Given the description of an element on the screen output the (x, y) to click on. 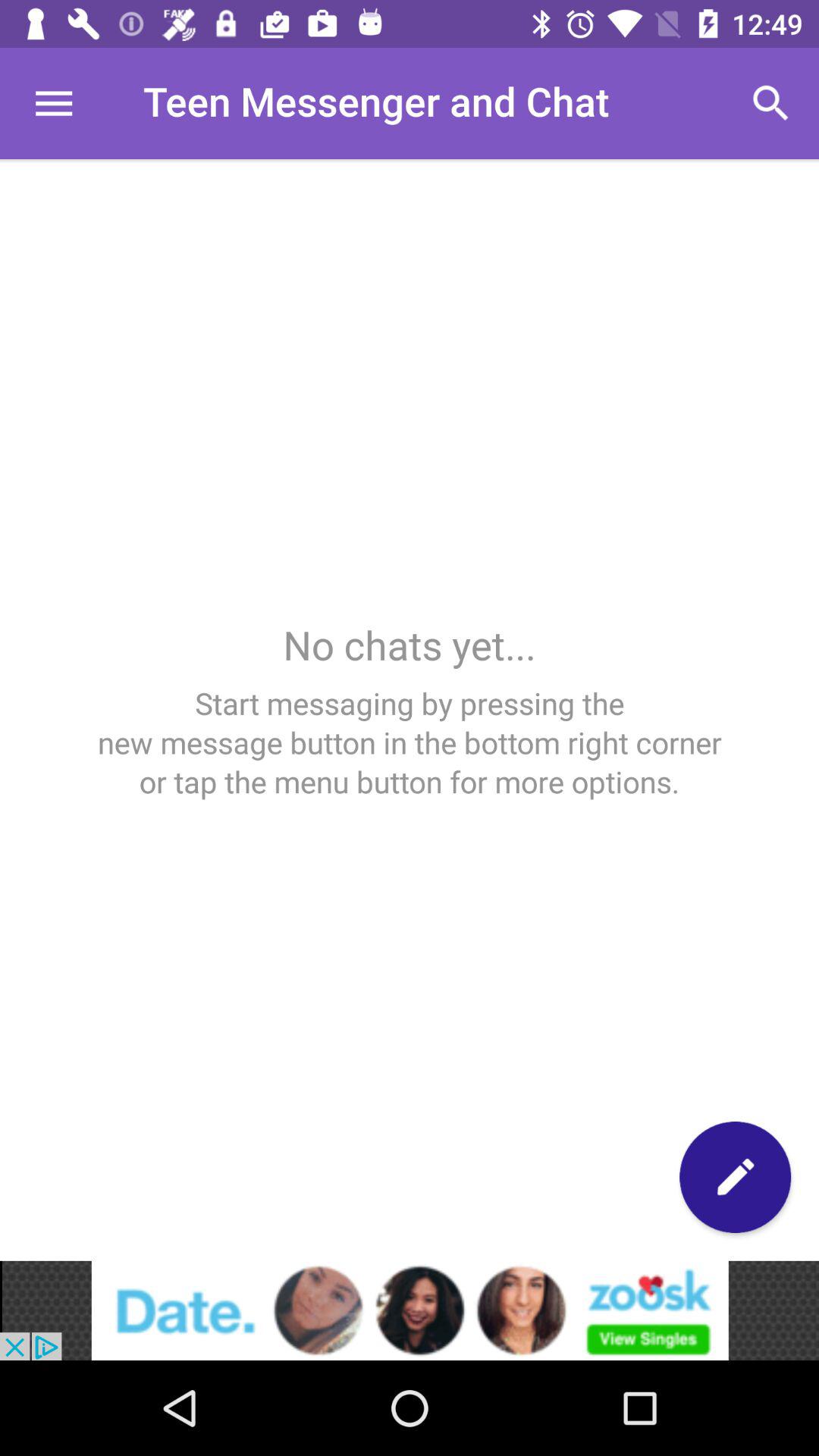
menu (53, 103)
